Given the description of an element on the screen output the (x, y) to click on. 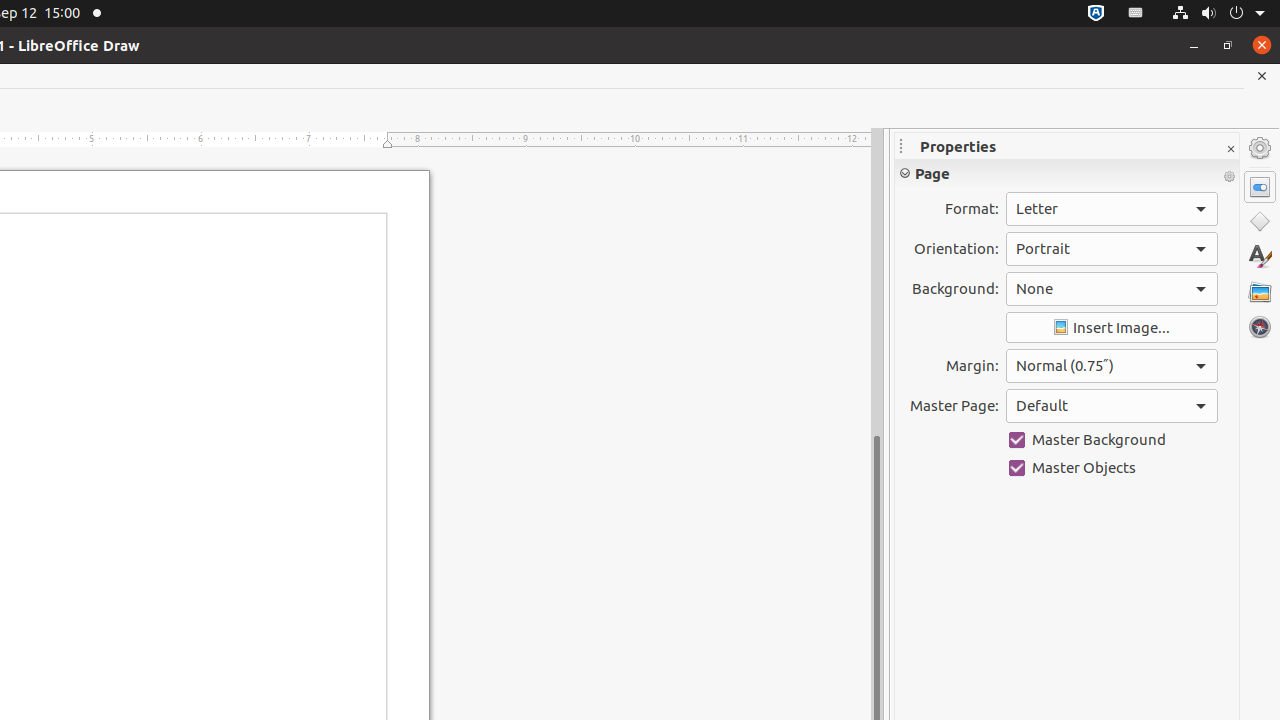
:1.21/StatusNotifierItem Element type: menu (1136, 13)
Master Objects Element type: check-box (1112, 468)
Close Sidebar Deck Element type: push-button (1230, 149)
Background: Element type: combo-box (1112, 289)
Insert Image Element type: push-button (1112, 327)
